Given the description of an element on the screen output the (x, y) to click on. 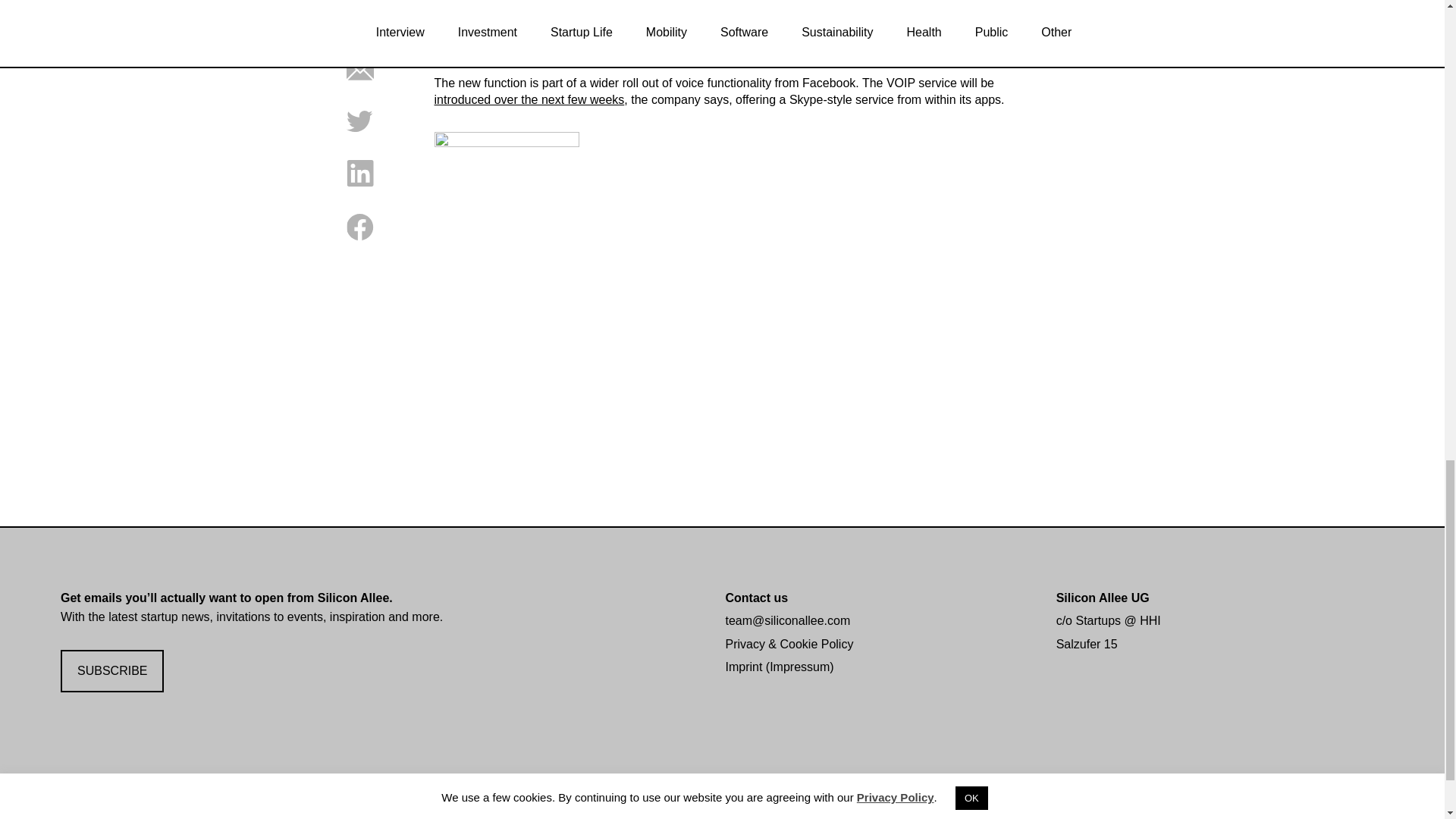
Salzufer 15 (1087, 644)
introduced over the next few weeks (528, 99)
SUBSCRIBE (112, 671)
Contact us (756, 597)
Silicon Allee UG (1103, 597)
